Given the description of an element on the screen output the (x, y) to click on. 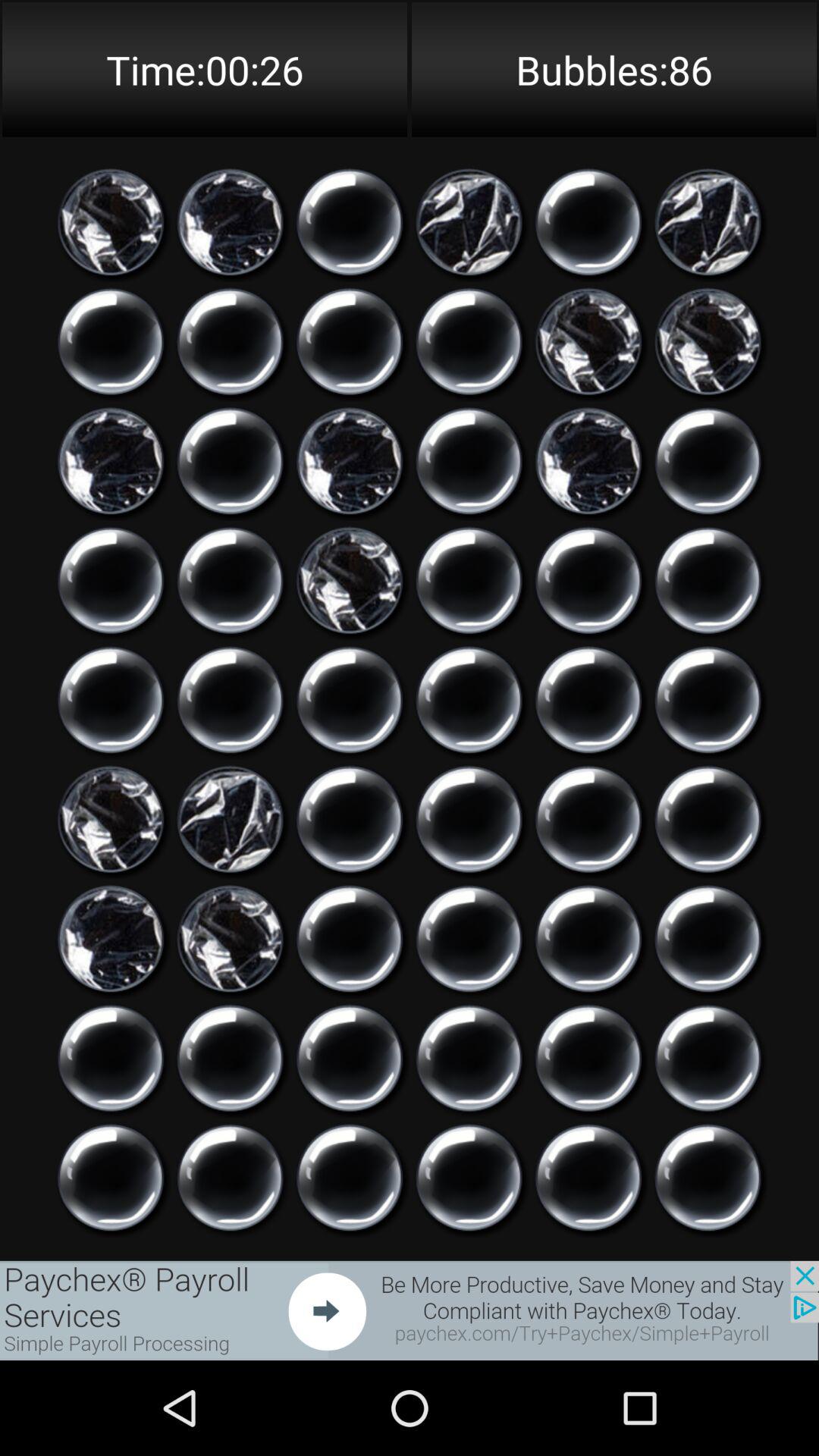
pop this bubble (707, 580)
